Given the description of an element on the screen output the (x, y) to click on. 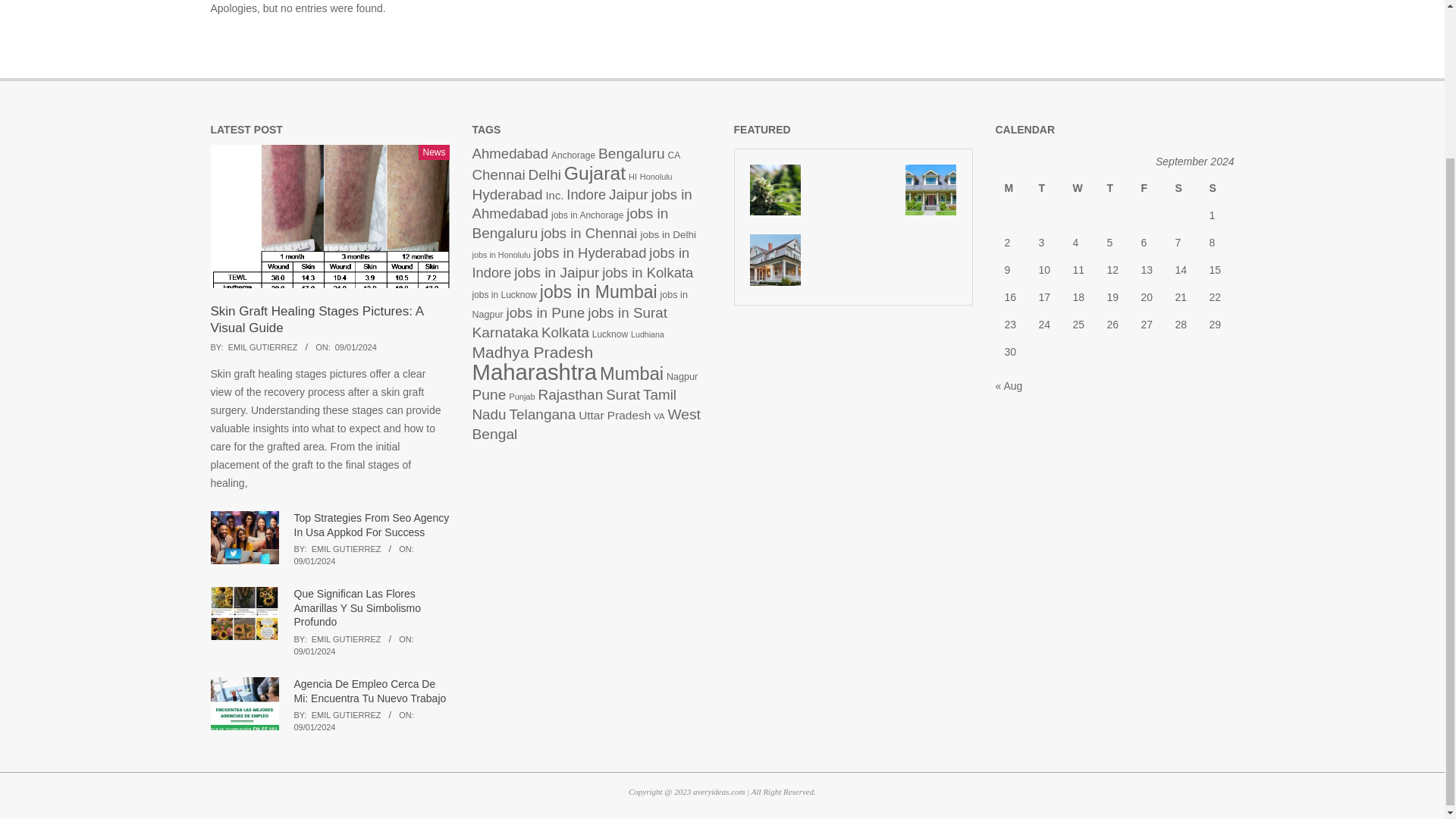
Skin Graft Healing Stages Pictures: A Visual Guide (317, 319)
EMIL GUTIERREZ (263, 347)
Sunday, September 1, 2024, 8:01 pm (315, 560)
Sunday (1216, 187)
Jaipur (627, 194)
Hyderabad (506, 194)
jobs in Hyderabad (590, 252)
Top Strategies From Seo Agency In Usa Appkod For Success (371, 524)
Chennai (497, 174)
jobs in Ahmedabad (581, 203)
